Given the description of an element on the screen output the (x, y) to click on. 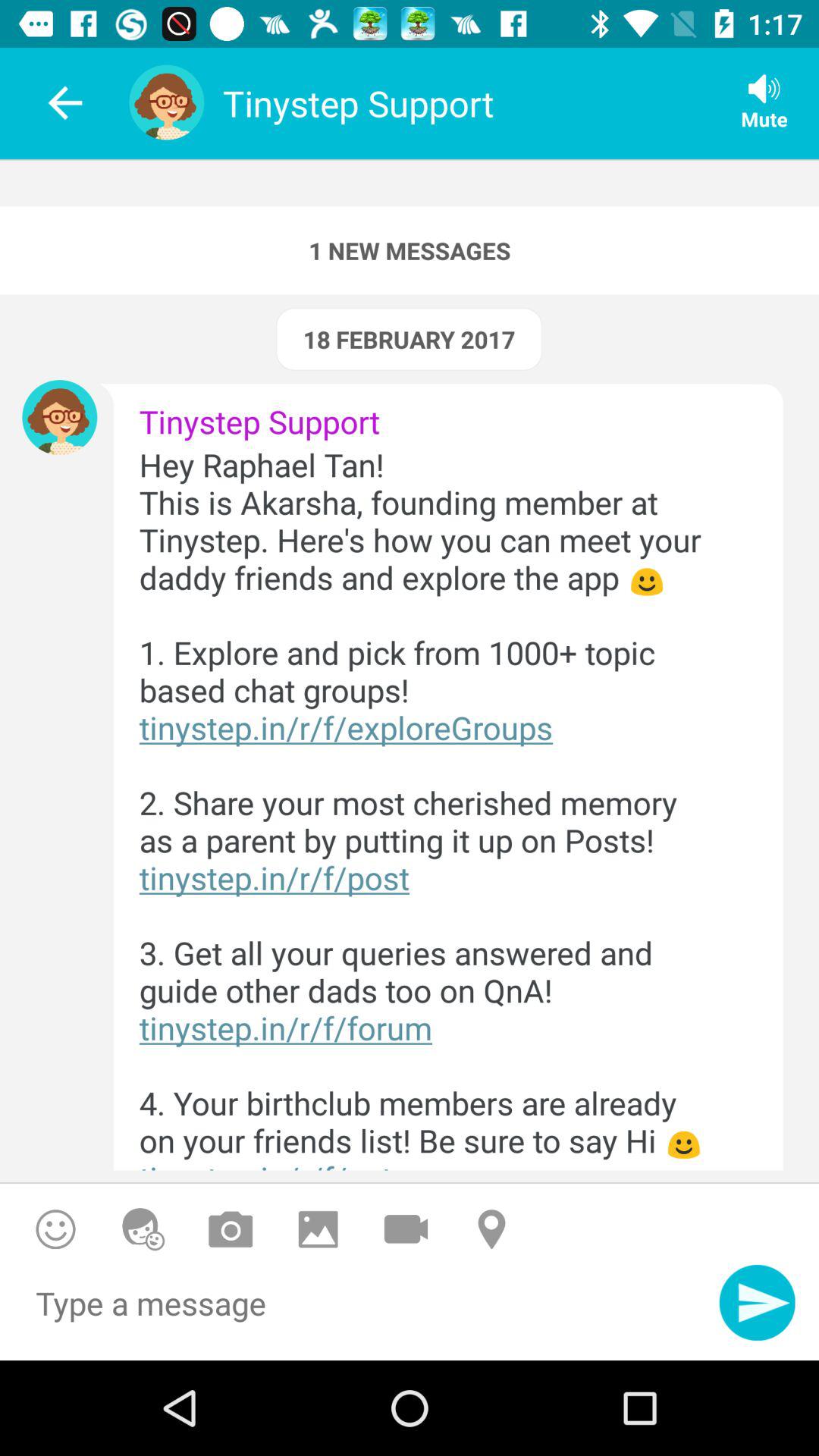
record and upload the video (405, 1229)
